Given the description of an element on the screen output the (x, y) to click on. 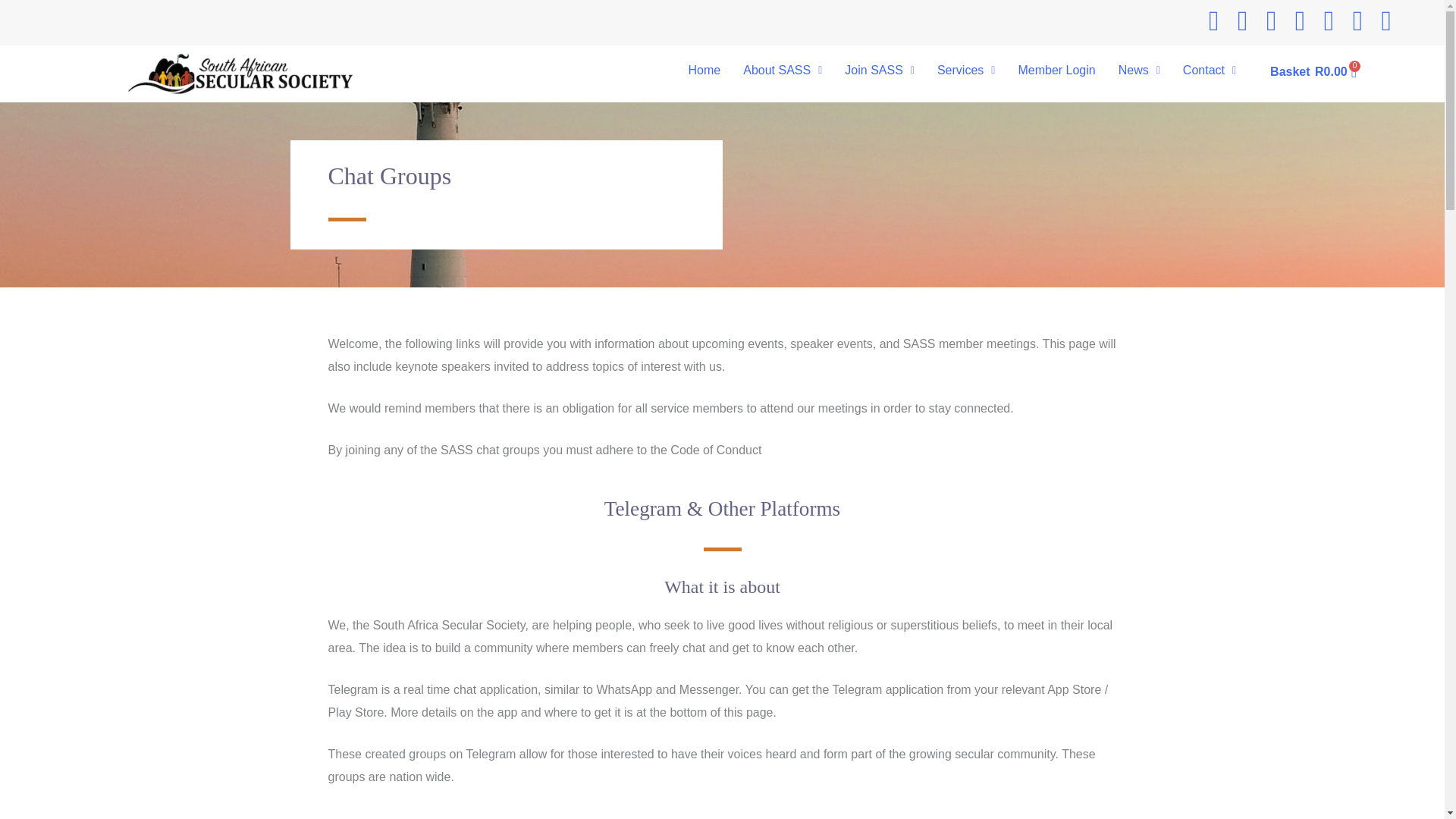
News (1139, 70)
Contact (1209, 70)
Services (966, 70)
Member Login (1056, 70)
Home (704, 70)
Join SASS (879, 70)
About SASS (1313, 71)
